Given the description of an element on the screen output the (x, y) to click on. 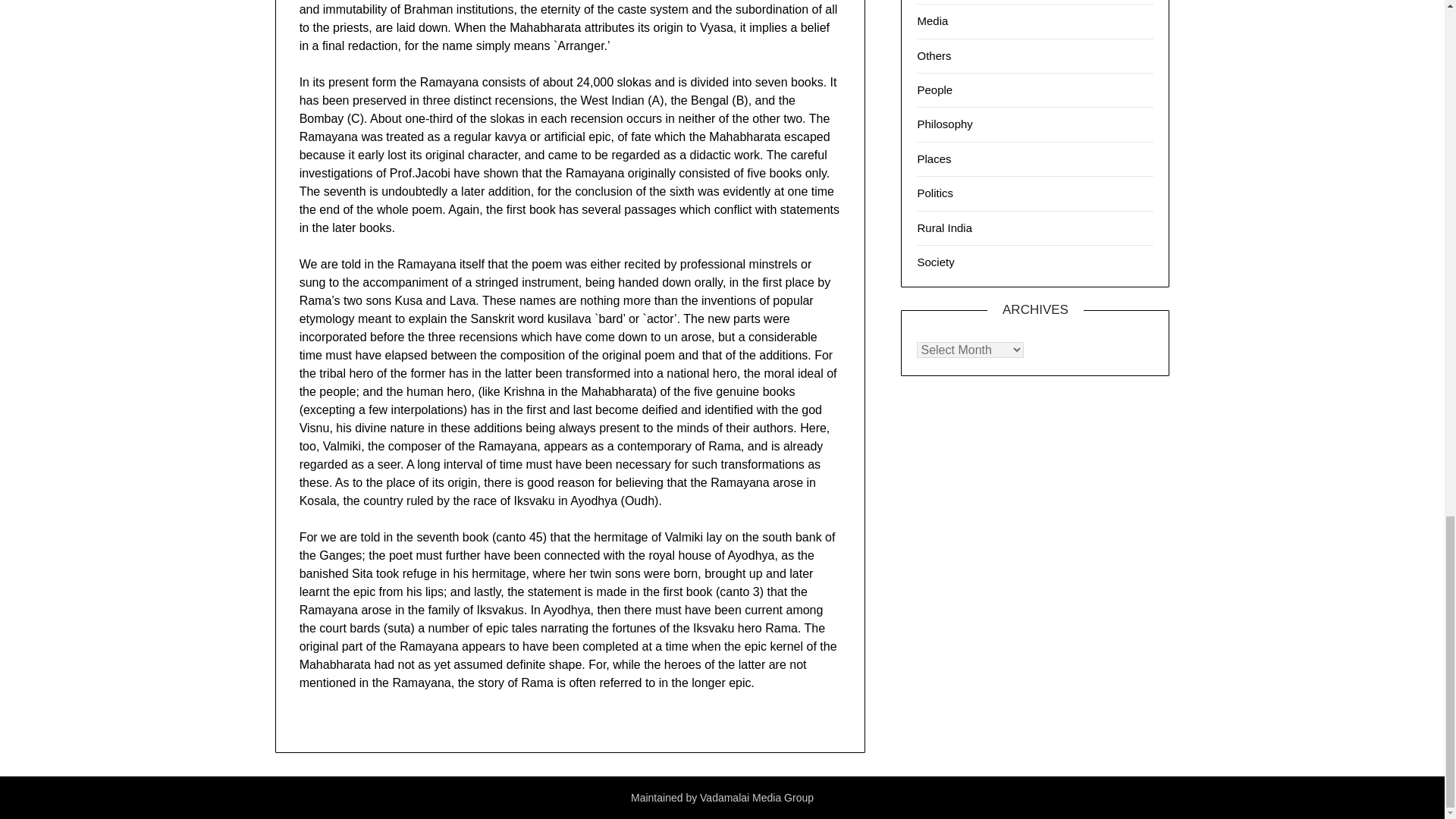
People (934, 89)
Places (933, 158)
Philosophy (944, 123)
Media (932, 20)
Others (933, 55)
Society (935, 261)
Politics (935, 192)
Rural India (944, 227)
